Given the description of an element on the screen output the (x, y) to click on. 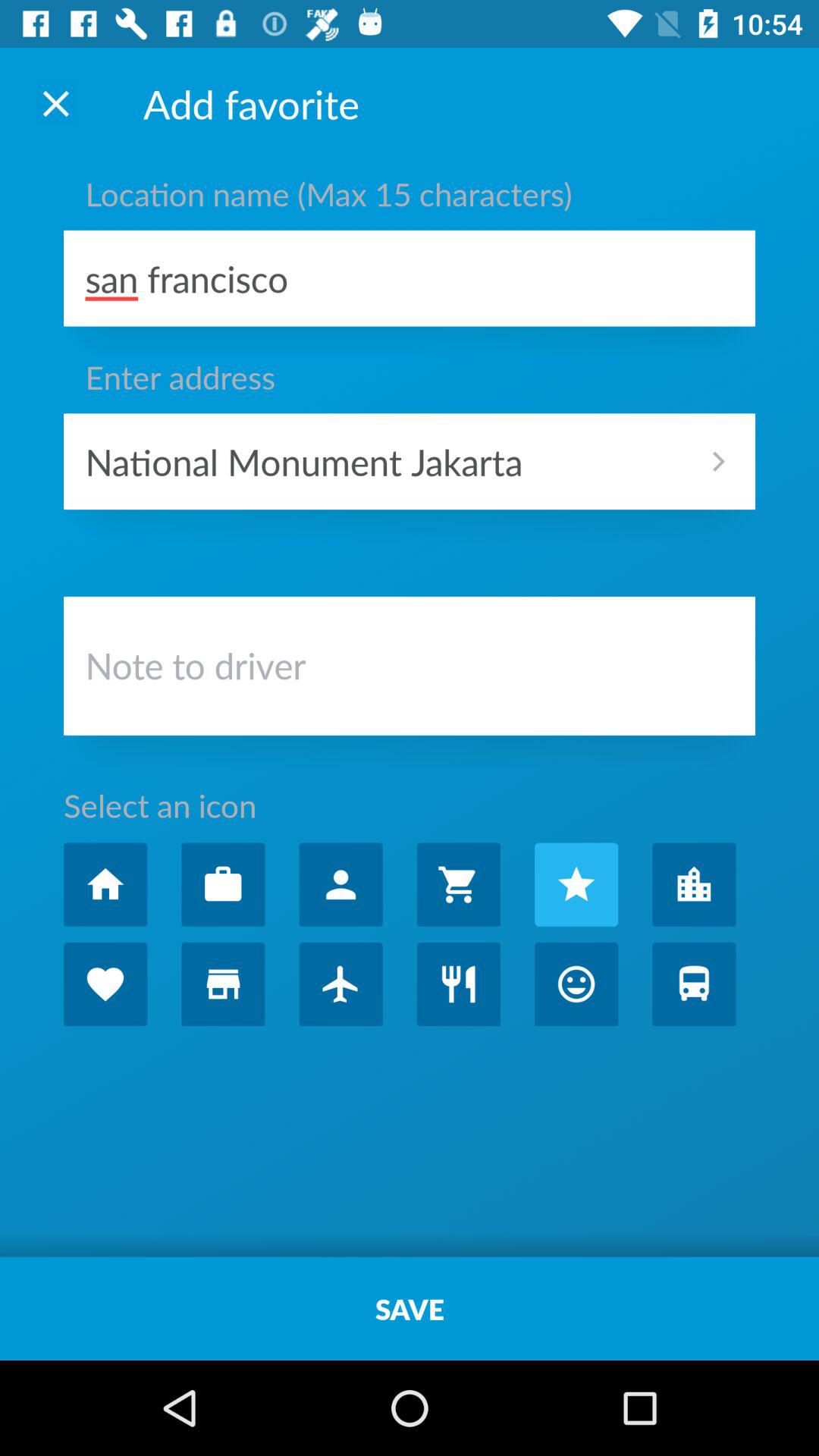
driving directions (693, 984)
